Given the description of an element on the screen output the (x, y) to click on. 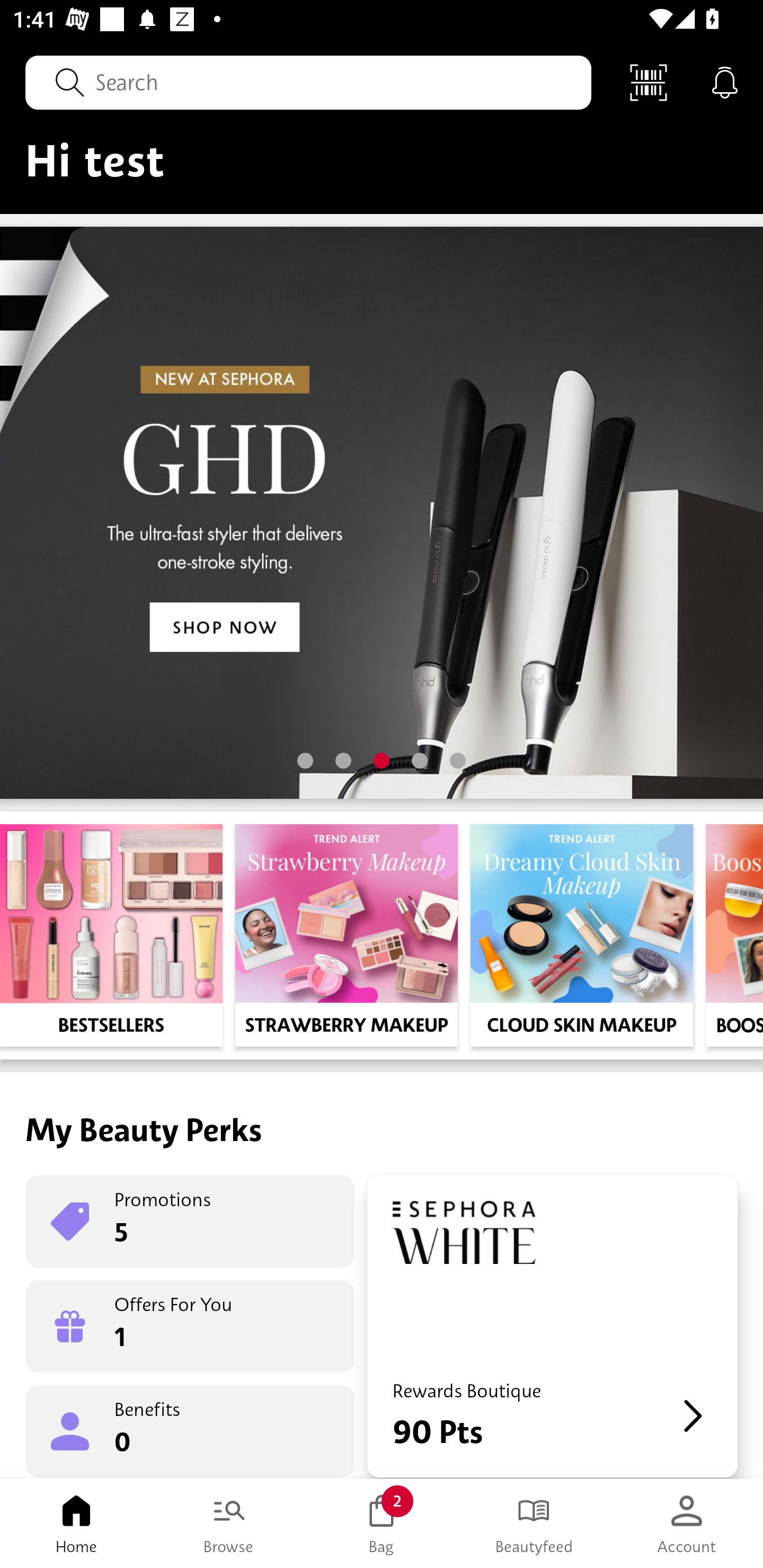
Scan Code (648, 81)
Notifications (724, 81)
Search (308, 81)
Promotions 5 (189, 1221)
Rewards Boutique 90 Pts (552, 1326)
Offers For You 1 (189, 1326)
Benefits 0 (189, 1430)
Browse (228, 1523)
Bag 2 Bag (381, 1523)
Beautyfeed (533, 1523)
Account (686, 1523)
